Given the description of an element on the screen output the (x, y) to click on. 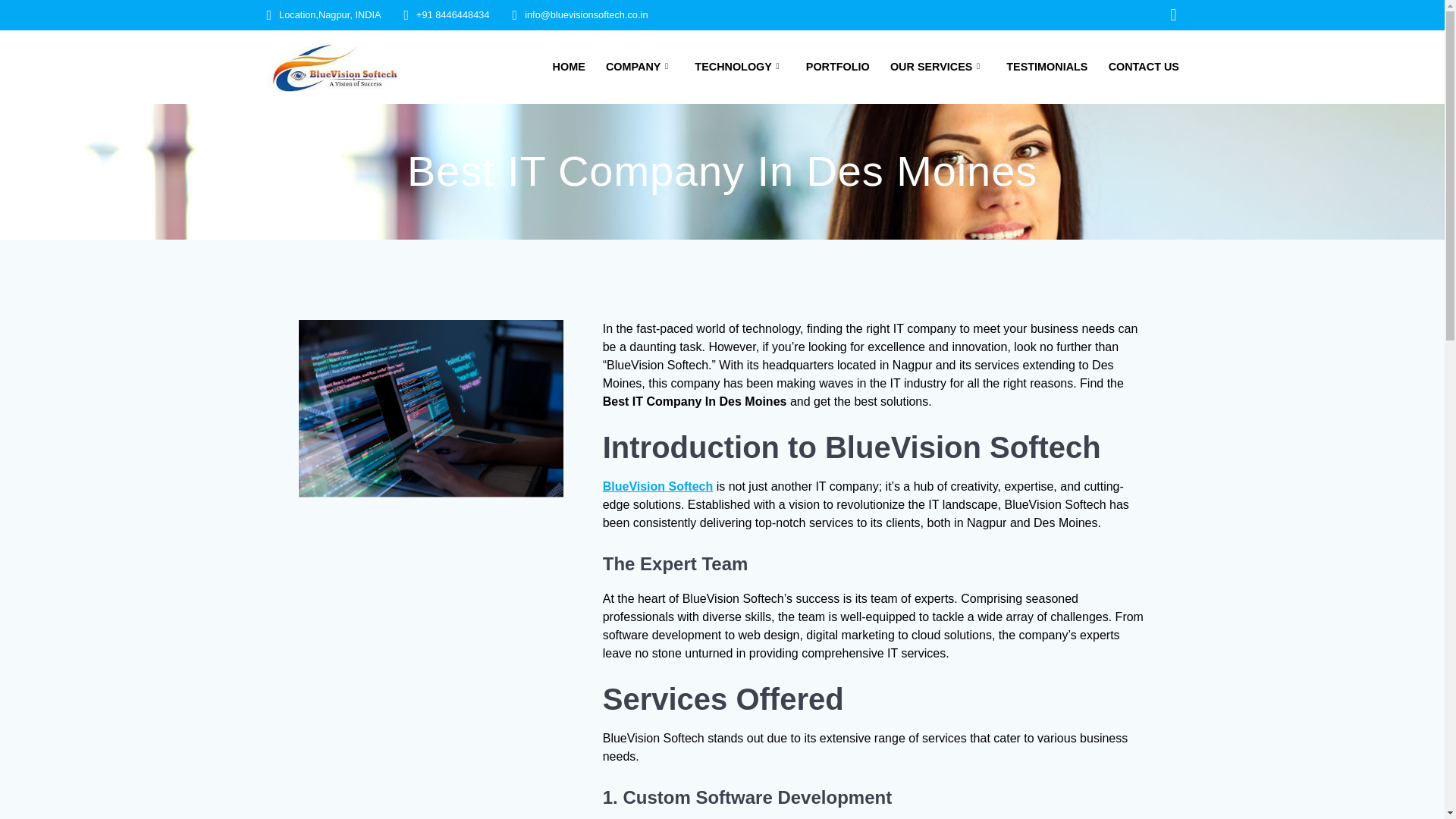
CONTACT US (1143, 67)
OUR SERVICES (937, 67)
COMPANY (639, 67)
TESTIMONIALS (1046, 67)
TECHNOLOGY (739, 67)
PORTFOLIO (837, 67)
HOME (569, 67)
